Given the description of an element on the screen output the (x, y) to click on. 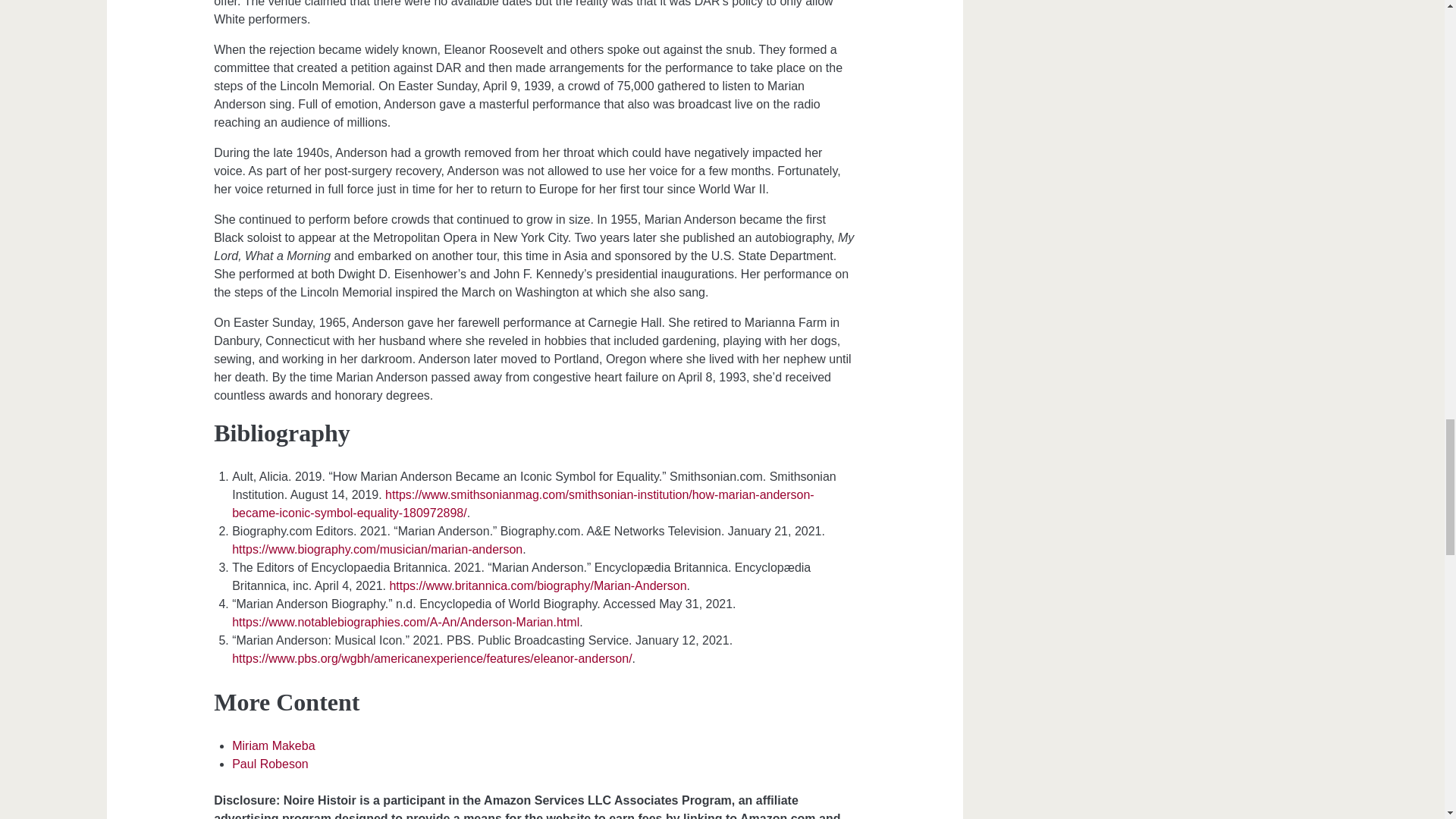
Miriam Makeba (272, 745)
Paul Robeson (269, 763)
